Given the description of an element on the screen output the (x, y) to click on. 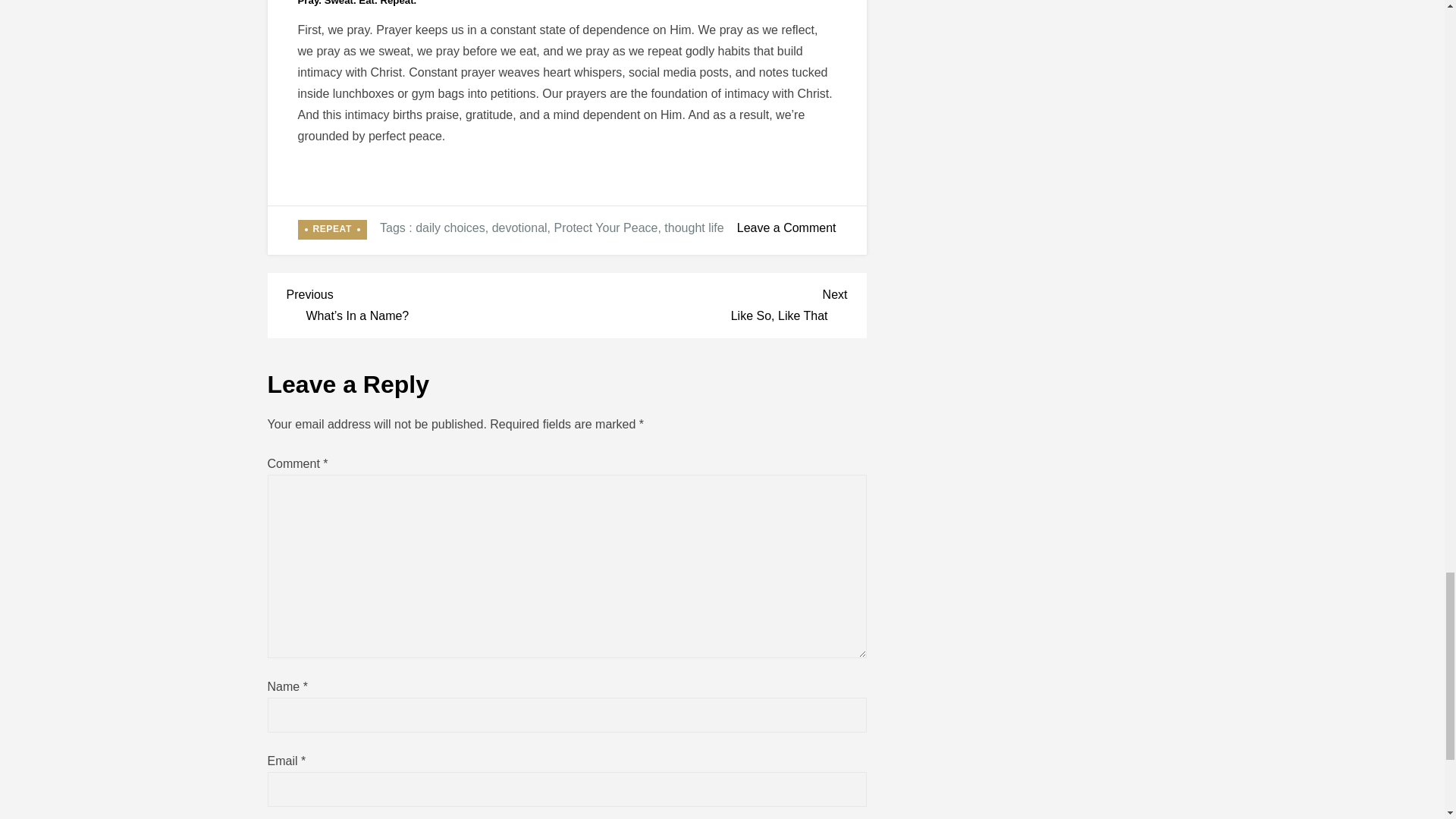
daily choices (449, 227)
devotional (707, 303)
thought life (519, 227)
REPEAT (693, 227)
Protect Your Peace (331, 229)
